Given the description of an element on the screen output the (x, y) to click on. 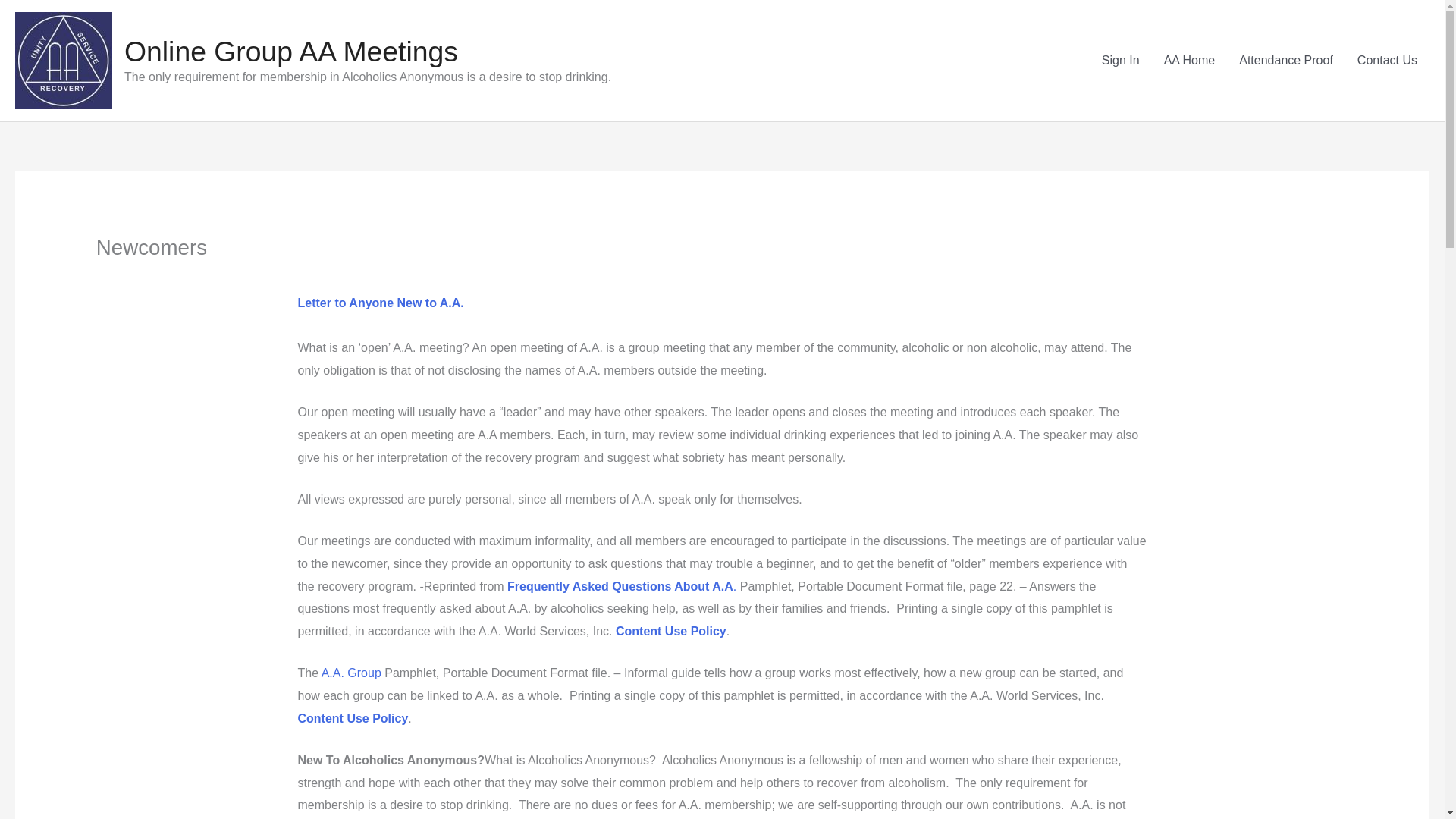
Letter to Anyone New to A.A (378, 302)
Frequently Asked Questions About A.A. (621, 585)
Attendance Proof (1286, 60)
Content Policy opens in a new window. (670, 631)
Content Use Policy (670, 631)
A.A. Group (351, 672)
Content Policy opens in a new window. (352, 717)
Content Use Policy (352, 717)
